Given the description of an element on the screen output the (x, y) to click on. 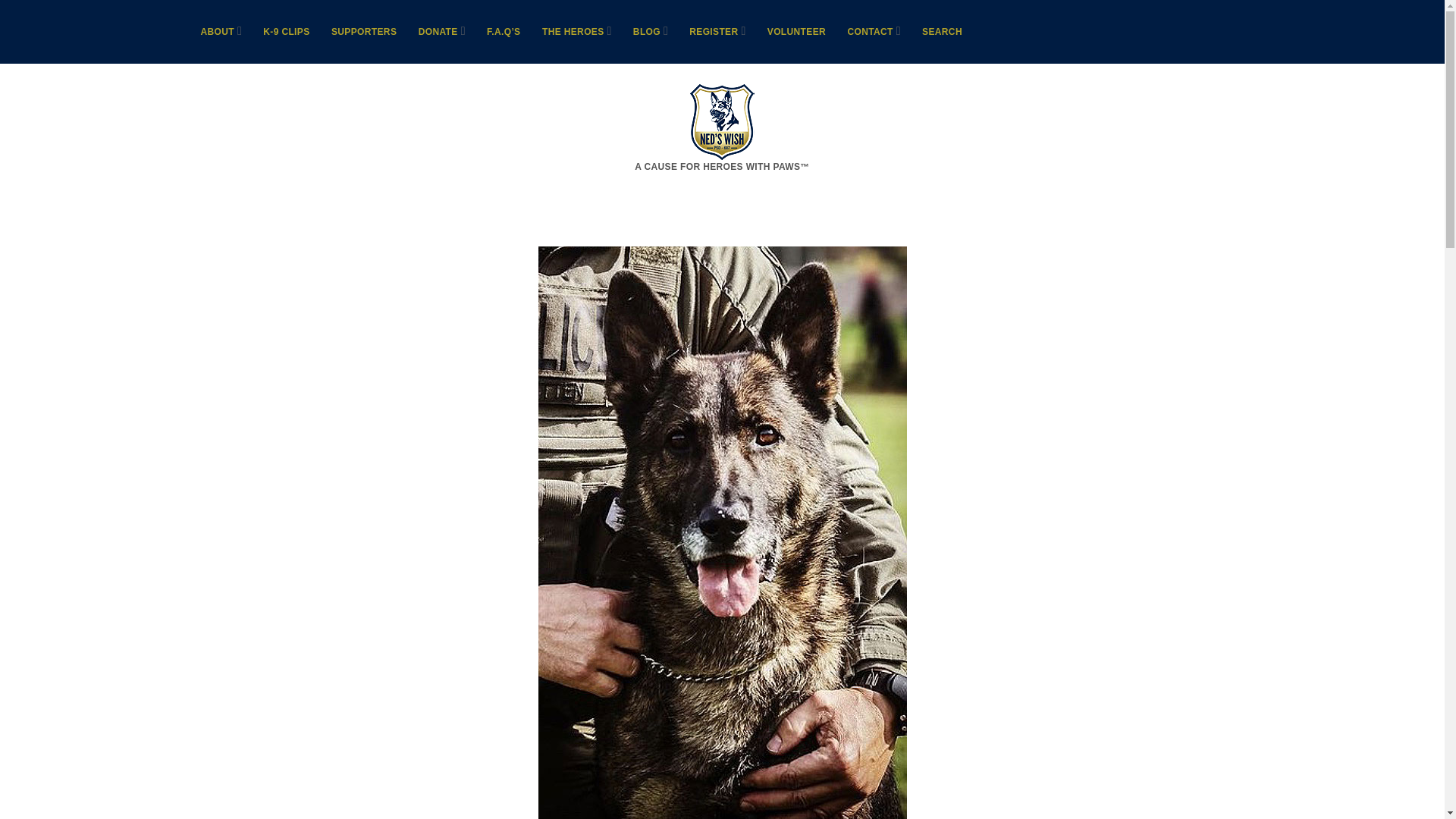
CONTACT (870, 31)
K-9 CLIPS (285, 31)
REGISTER (712, 31)
ABOUT (216, 31)
VOLUNTEER (796, 31)
BLOG (646, 31)
THE HEROES (572, 31)
SUPPORTERS (363, 31)
DONATE (438, 31)
SEARCH (941, 31)
